Given the description of an element on the screen output the (x, y) to click on. 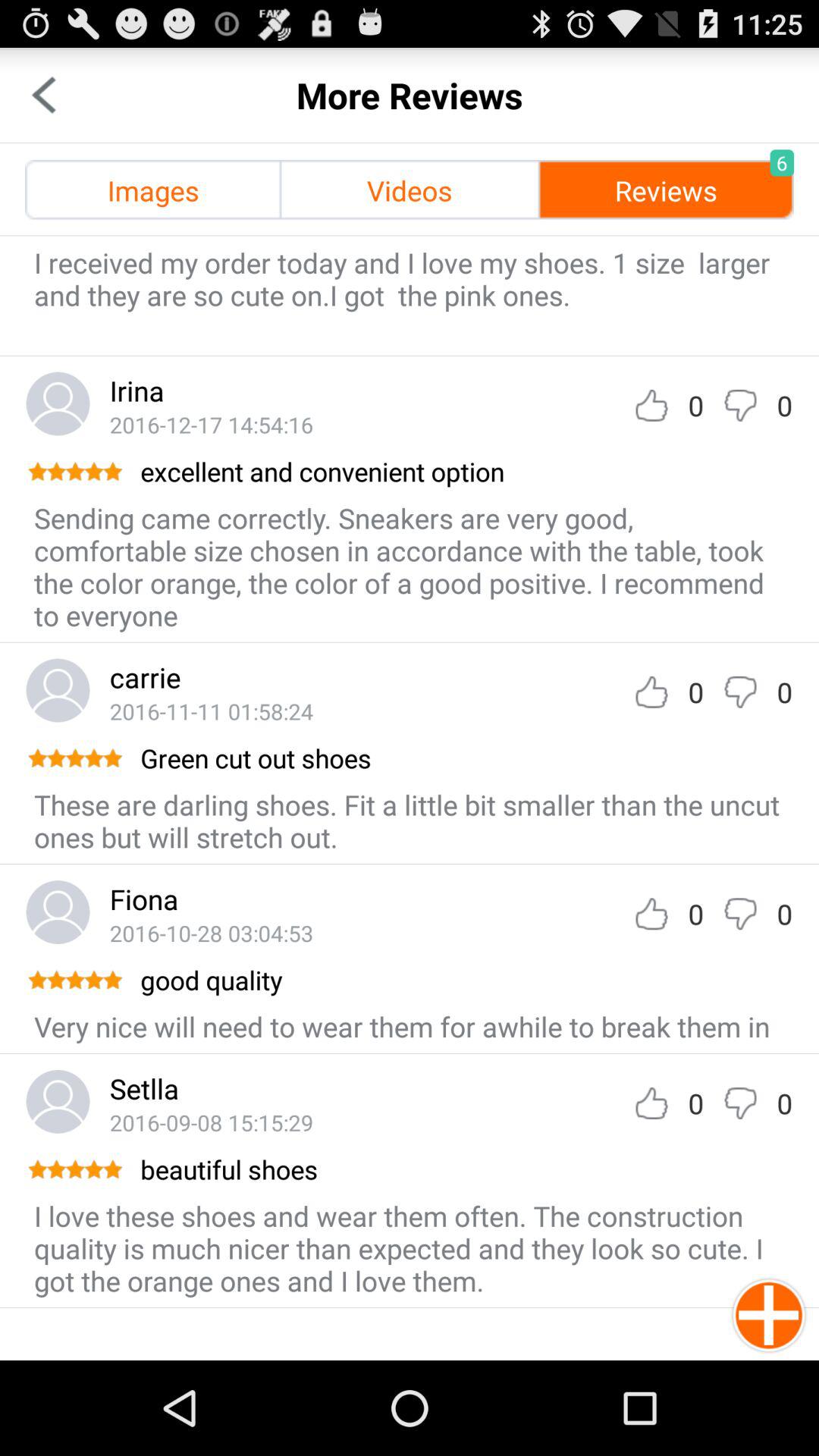
like option (651, 913)
